Given the description of an element on the screen output the (x, y) to click on. 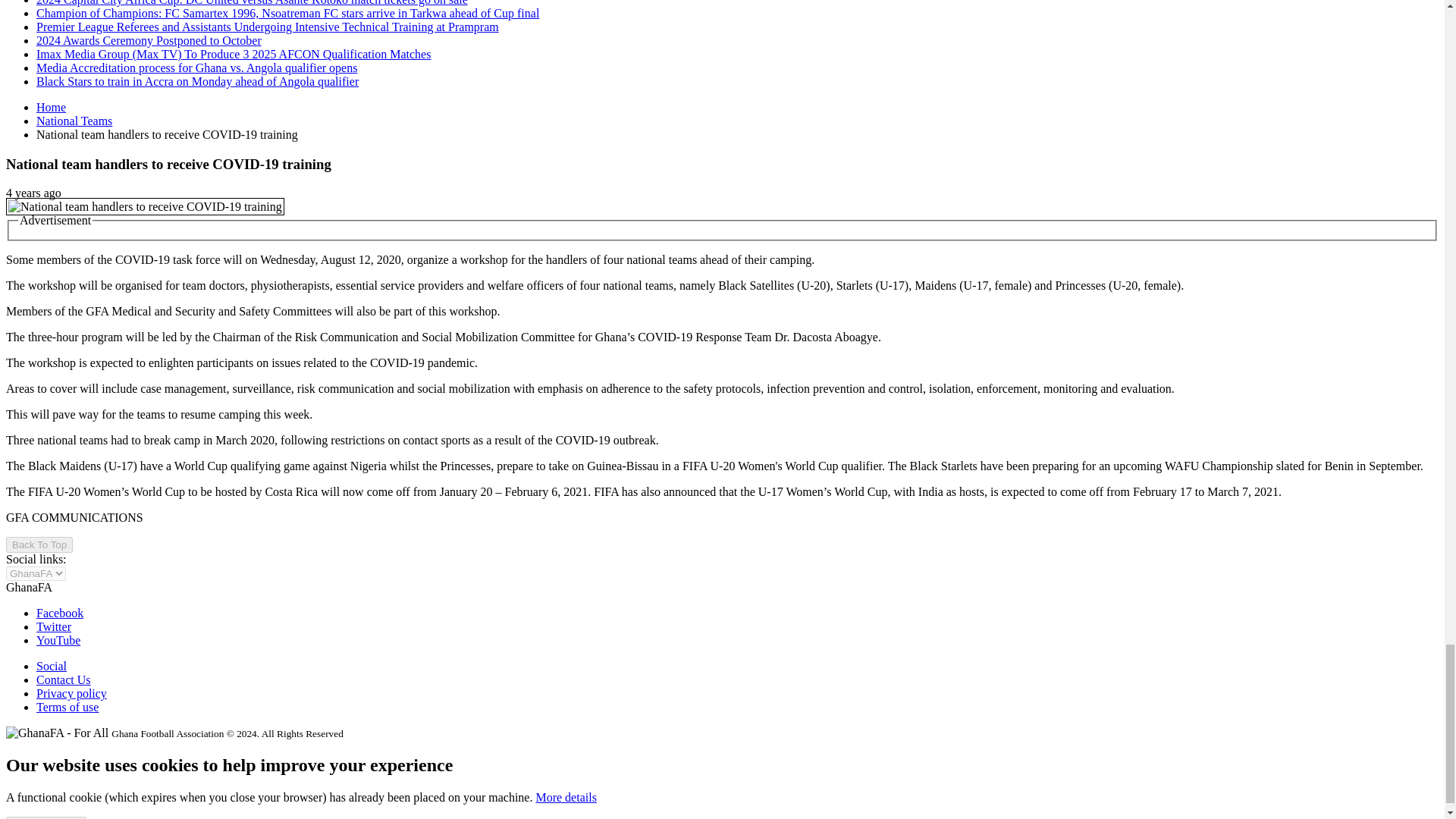
View the GhanaFA YouTube channel (58, 640)
View the GhanaFA Facebook channel (59, 612)
View the GhanaFA Twitter channel (53, 626)
